Given the description of an element on the screen output the (x, y) to click on. 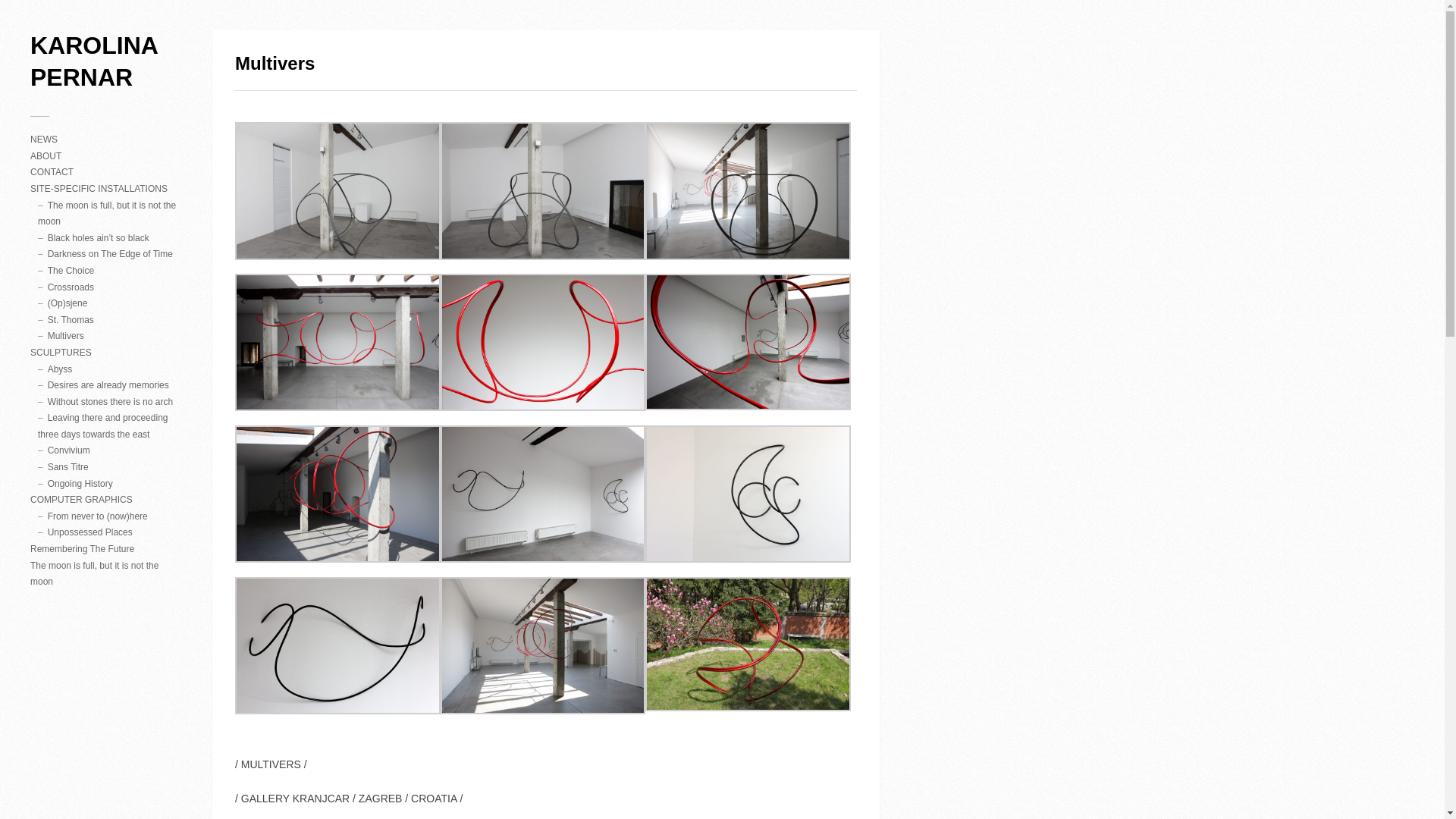
SCULPTURES (60, 352)
Multivers (66, 335)
CONTACT (52, 172)
KAROLINA PERNAR (106, 61)
SITE-SPECIFIC INSTALLATIONS (98, 188)
Ongoing History (80, 483)
Convivium (69, 450)
Remembering The Future (81, 548)
ABOUT (45, 155)
Without stones there is no arch (110, 401)
NEWS (44, 139)
The moon is full, but it is not the moon (106, 213)
The moon is full, but it is not the moon (94, 574)
The Choice (71, 270)
COMPUTER GRAPHICS (81, 499)
